Given the description of an element on the screen output the (x, y) to click on. 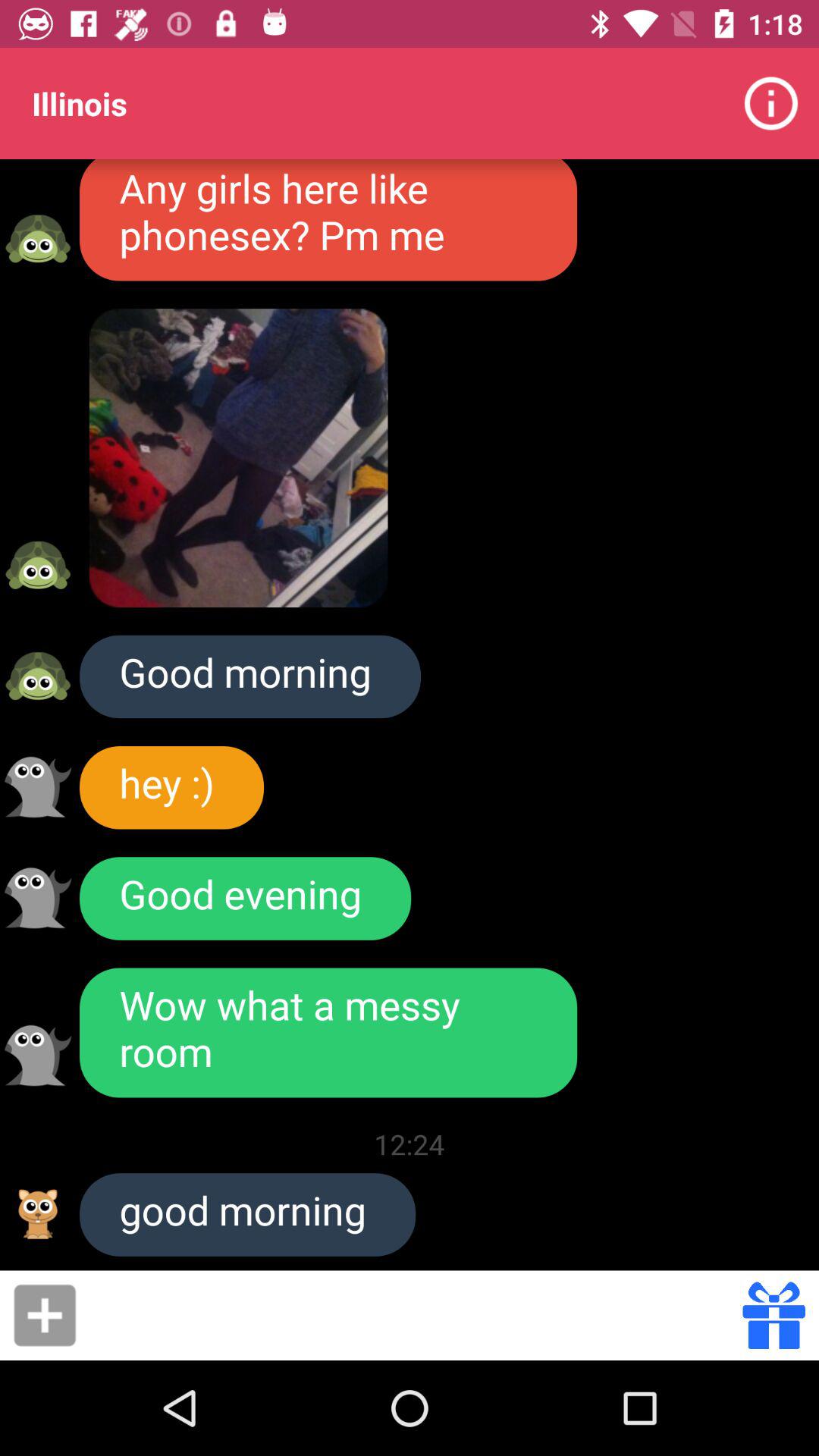
launch icon below good morning  icon (171, 787)
